Given the description of an element on the screen output the (x, y) to click on. 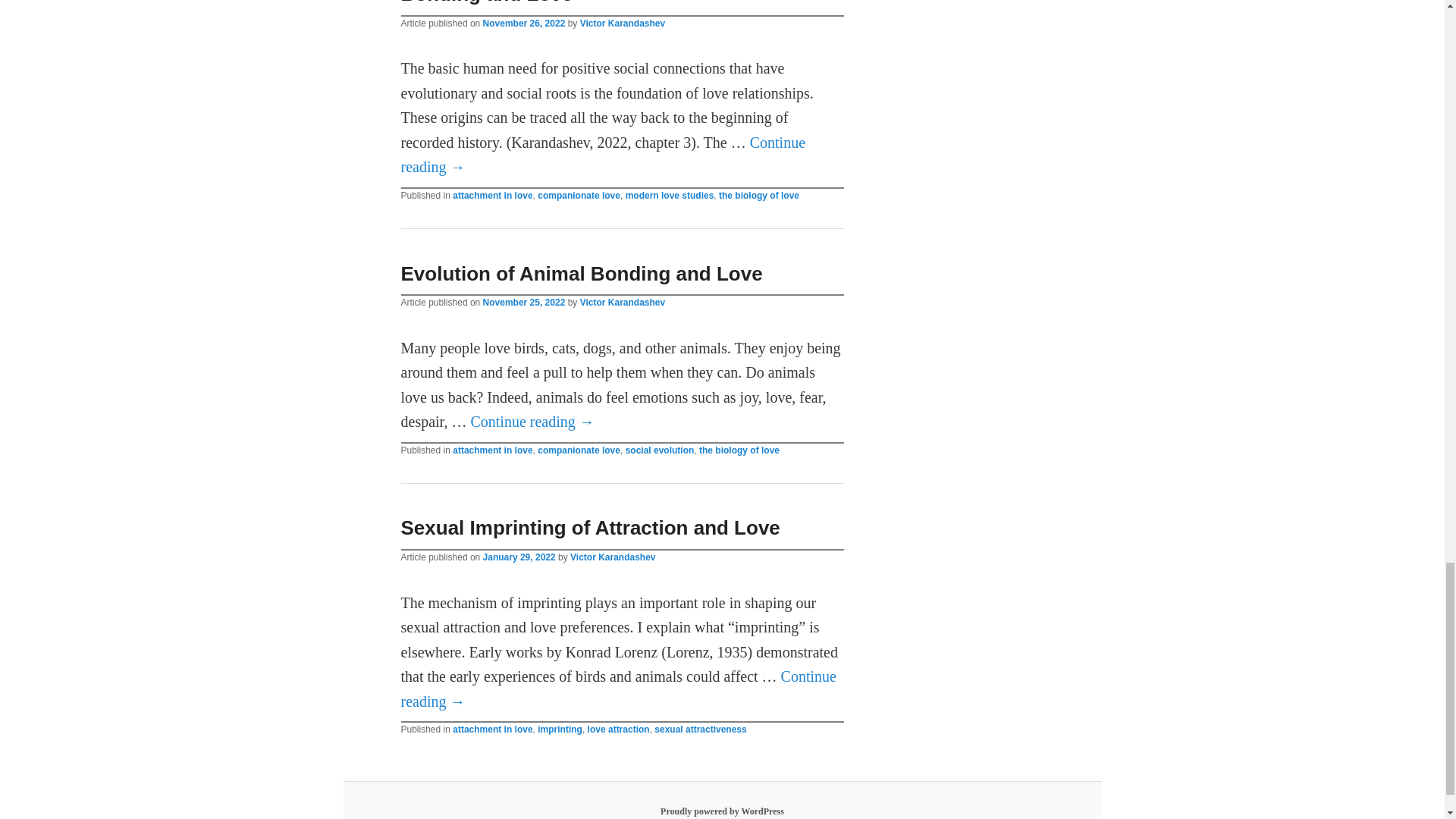
10:00 am (524, 23)
View all publications by Victor Karandashev (622, 302)
6:42 pm (524, 302)
View all publications by Victor Karandashev (622, 23)
